Given the description of an element on the screen output the (x, y) to click on. 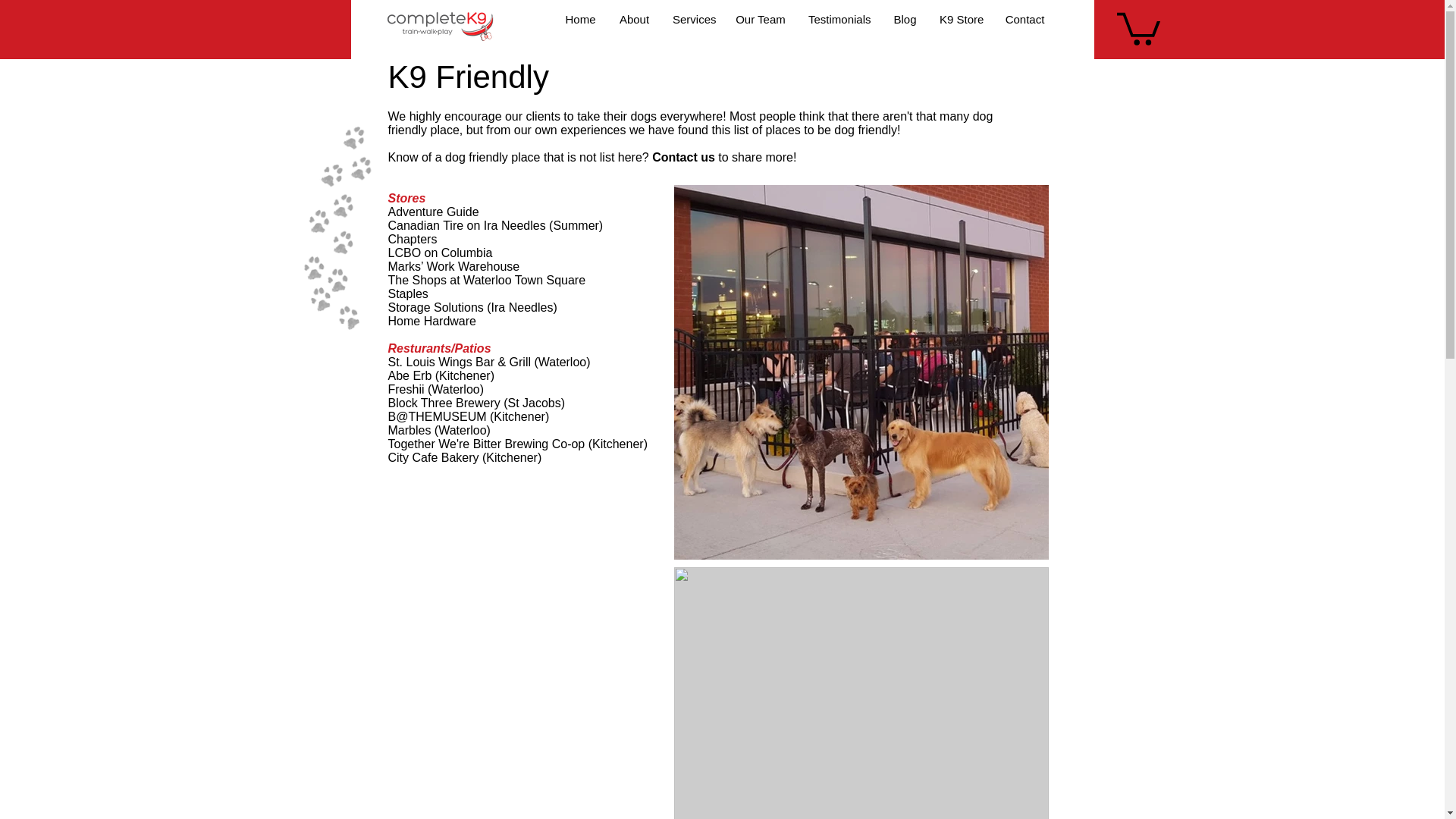
K9 Store (960, 18)
Testimonials (839, 18)
About (634, 18)
Our Team (759, 18)
Blog (905, 18)
Services (692, 18)
Home (580, 18)
Contact (1024, 18)
Contact us (683, 156)
